Given the description of an element on the screen output the (x, y) to click on. 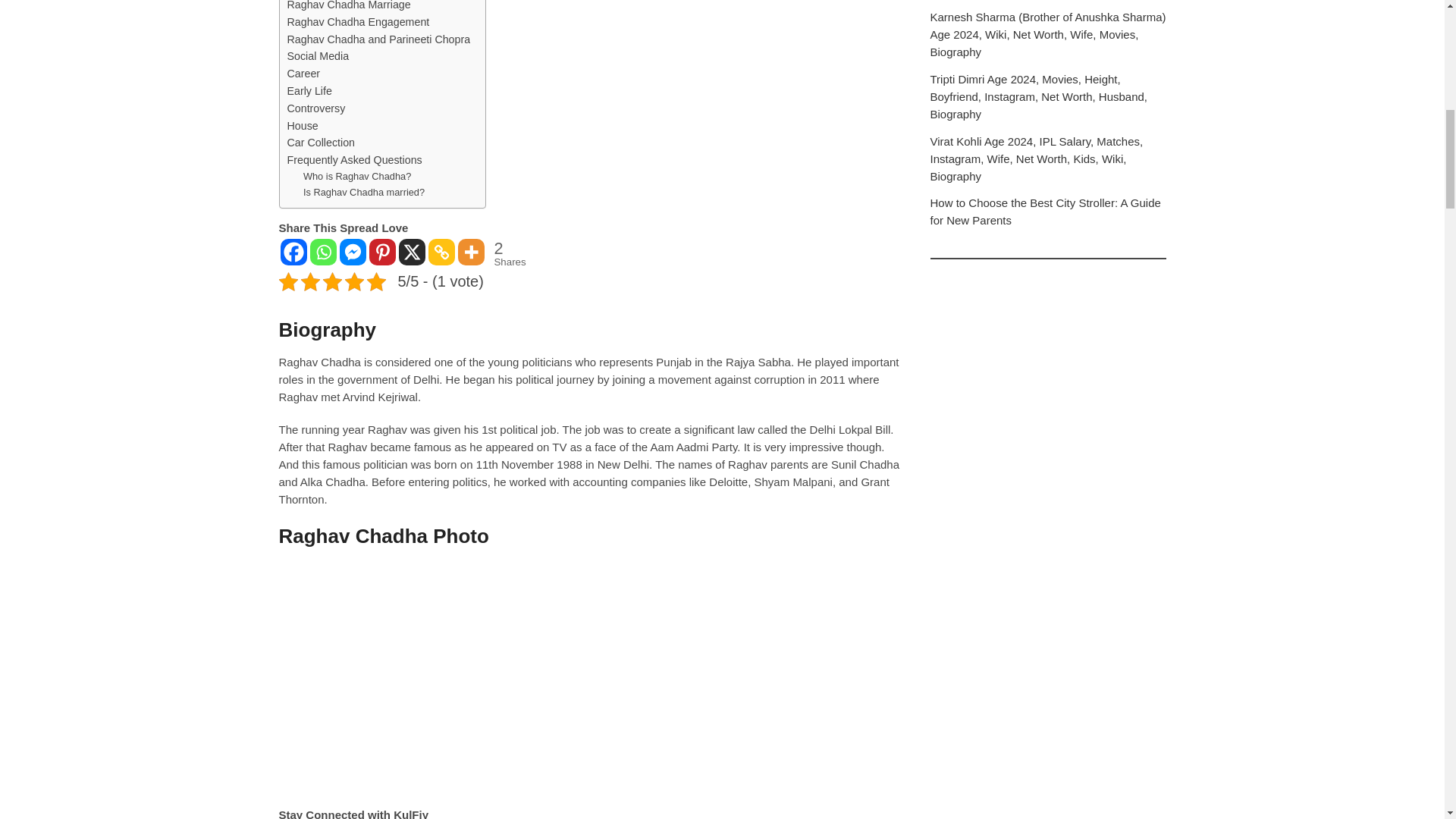
Raghav Chadha Engagement (357, 22)
Social Media (317, 56)
Raghav Chadha and Parineeti Chopra (378, 39)
Raghav Chadha Marriage (348, 6)
